Given the description of an element on the screen output the (x, y) to click on. 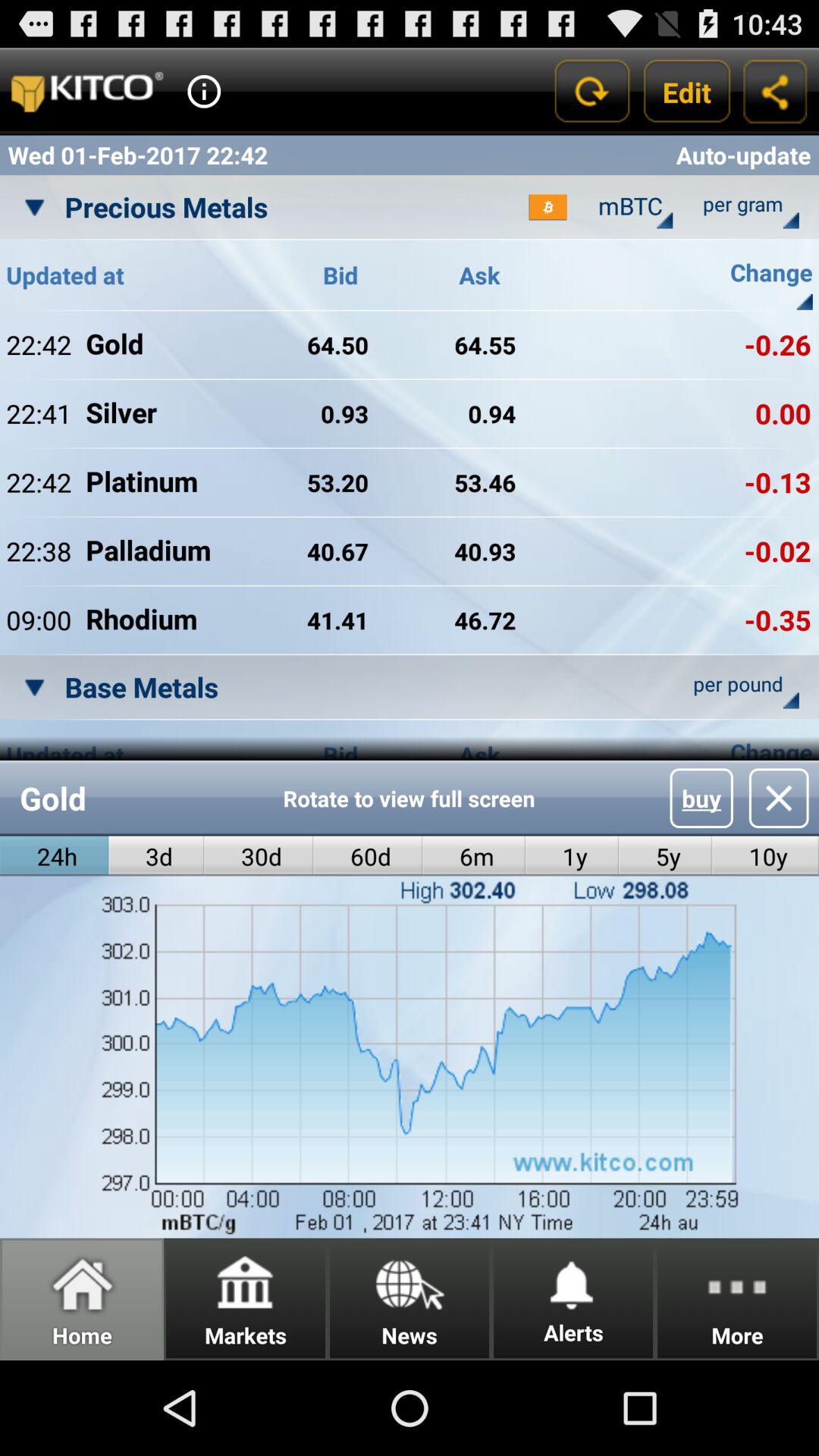
tap radio button to the right of the 5y (765, 856)
